Given the description of an element on the screen output the (x, y) to click on. 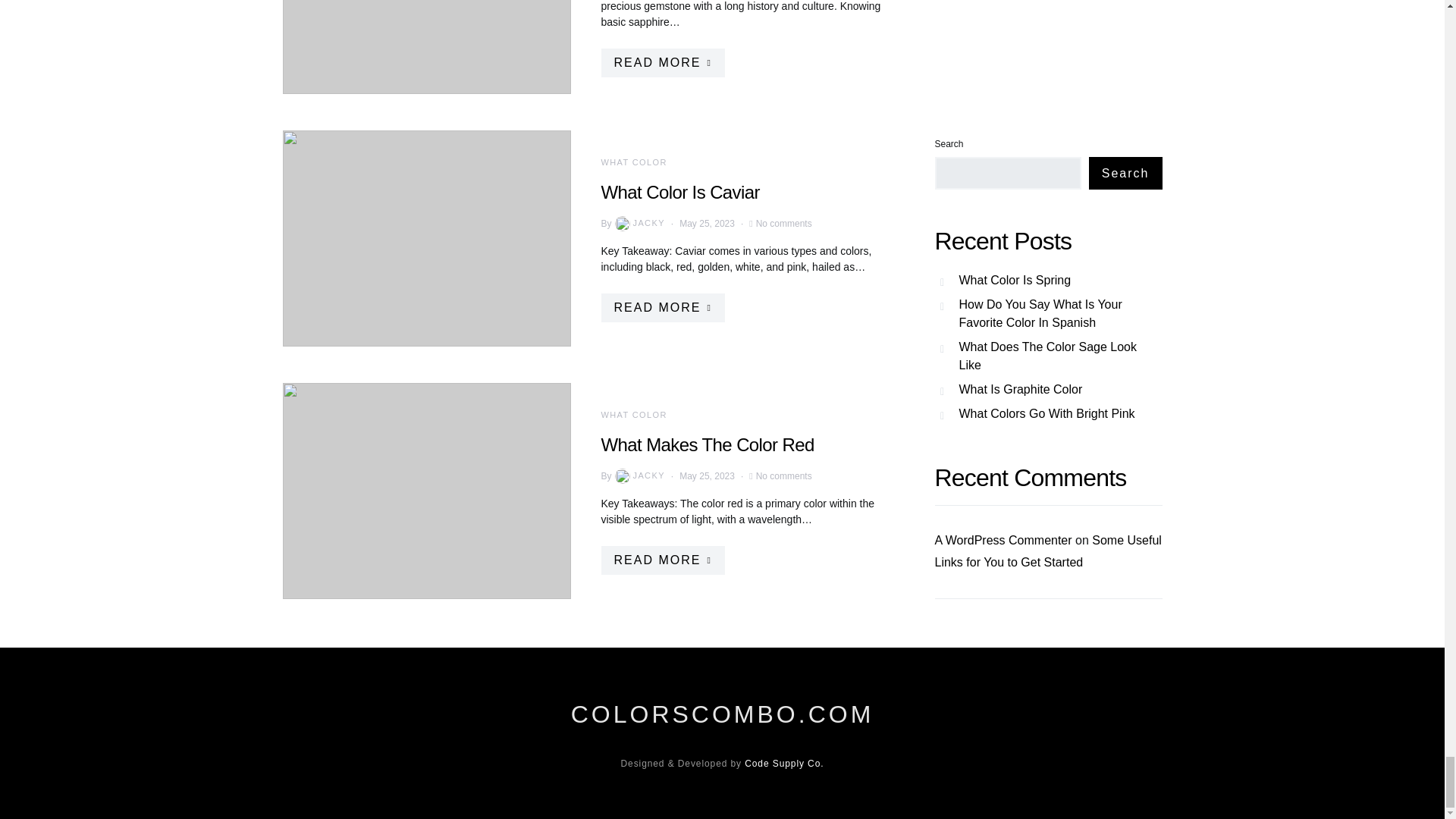
View all posts by Jacky (638, 222)
View all posts by Jacky (638, 476)
